Given the description of an element on the screen output the (x, y) to click on. 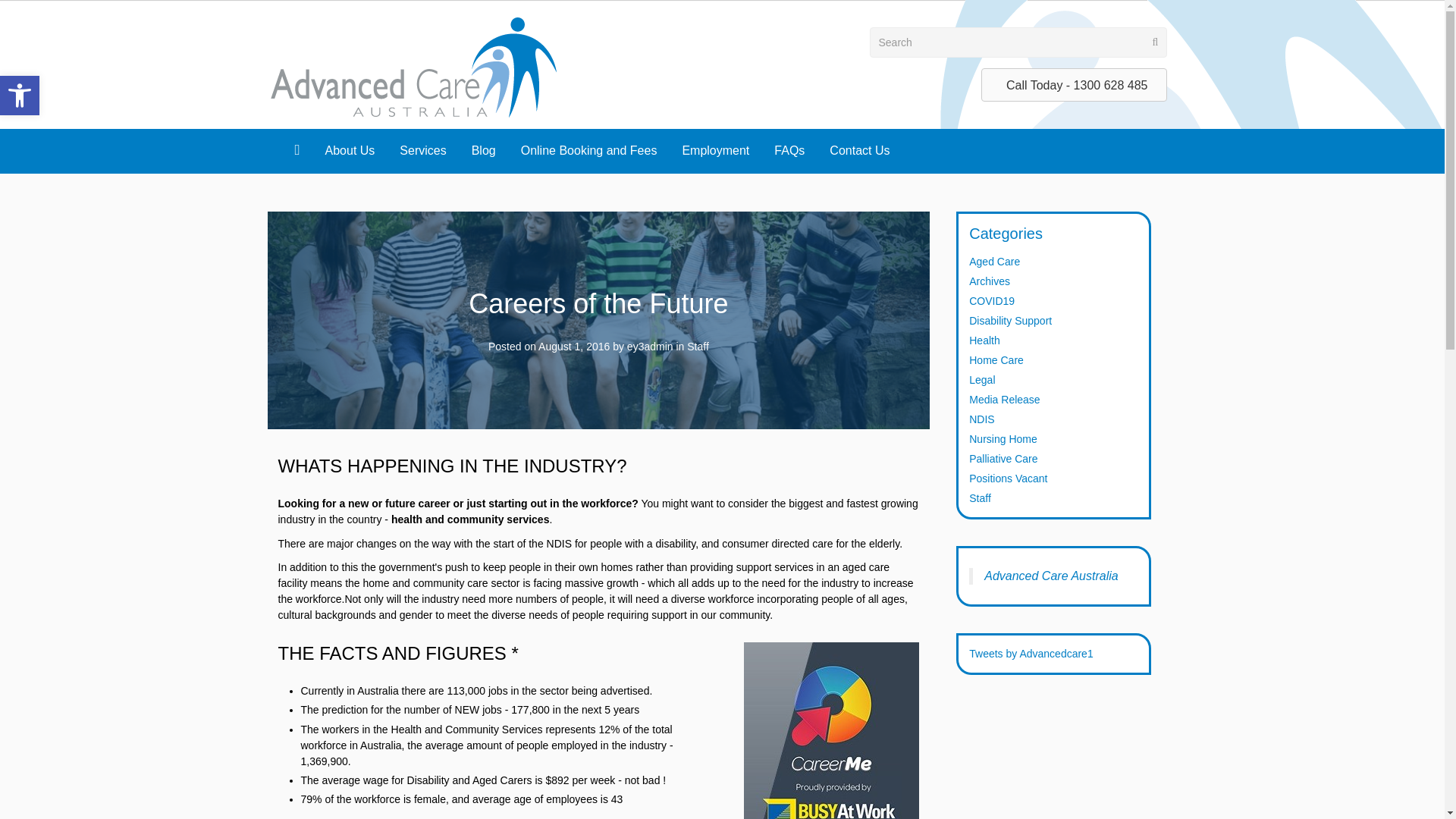
Staff (698, 346)
Call Today - 1300 628 485 (1074, 84)
FAQs (788, 150)
Contact Us (858, 150)
Employment (715, 150)
ey3admin (649, 346)
Online Booking and Fees (588, 150)
career-me (831, 730)
Accessibility Tools (19, 95)
Services (422, 150)
Accessibility Tools (19, 95)
advanced-care (412, 64)
About Us (350, 150)
Blog (484, 150)
